Given the description of an element on the screen output the (x, y) to click on. 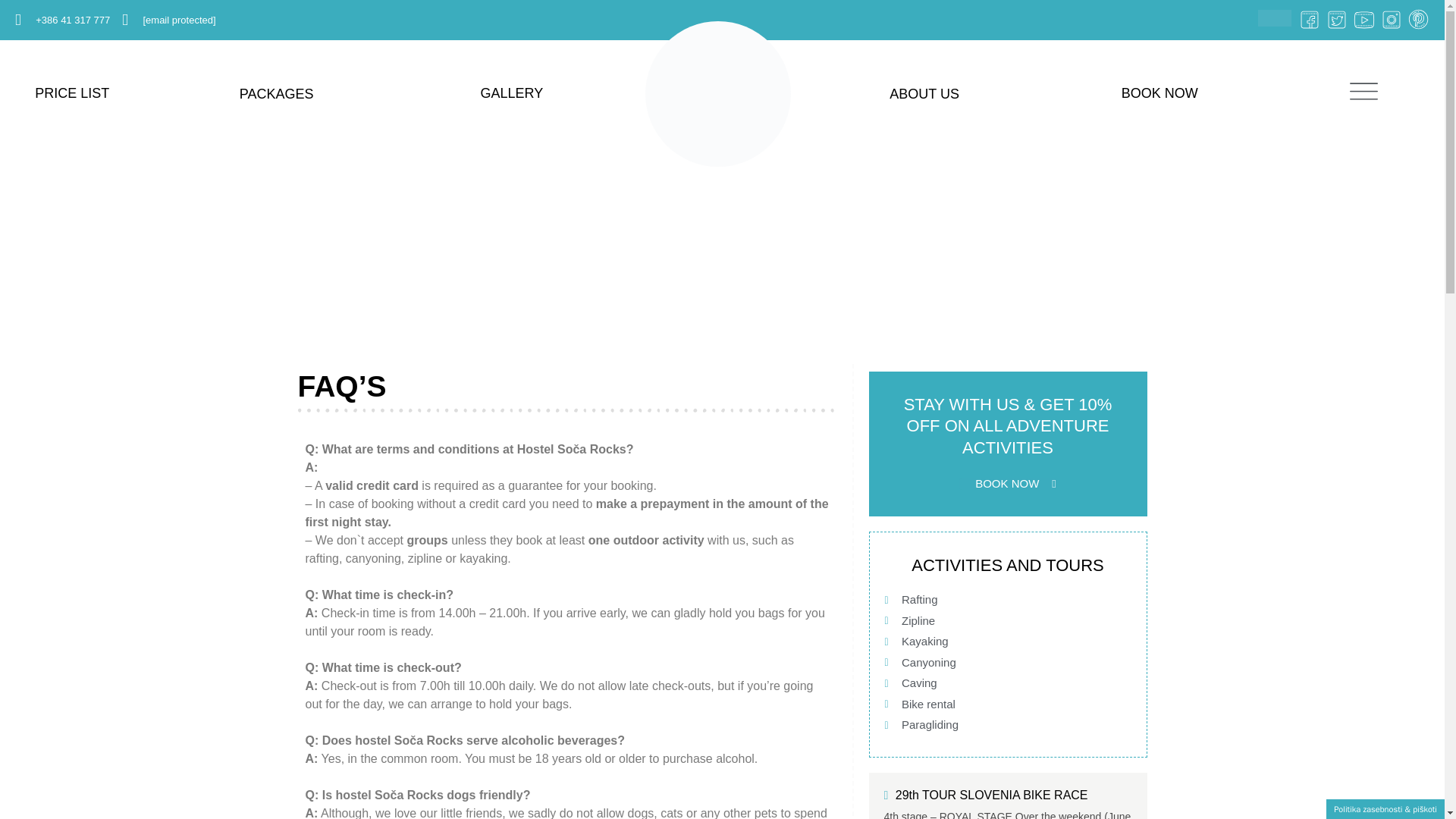
PACKAGES (276, 93)
logo square (717, 94)
BOOK NOW (1159, 92)
GALLERY (511, 92)
ABOUT US (924, 93)
PRICE LIST (71, 92)
